Given the description of an element on the screen output the (x, y) to click on. 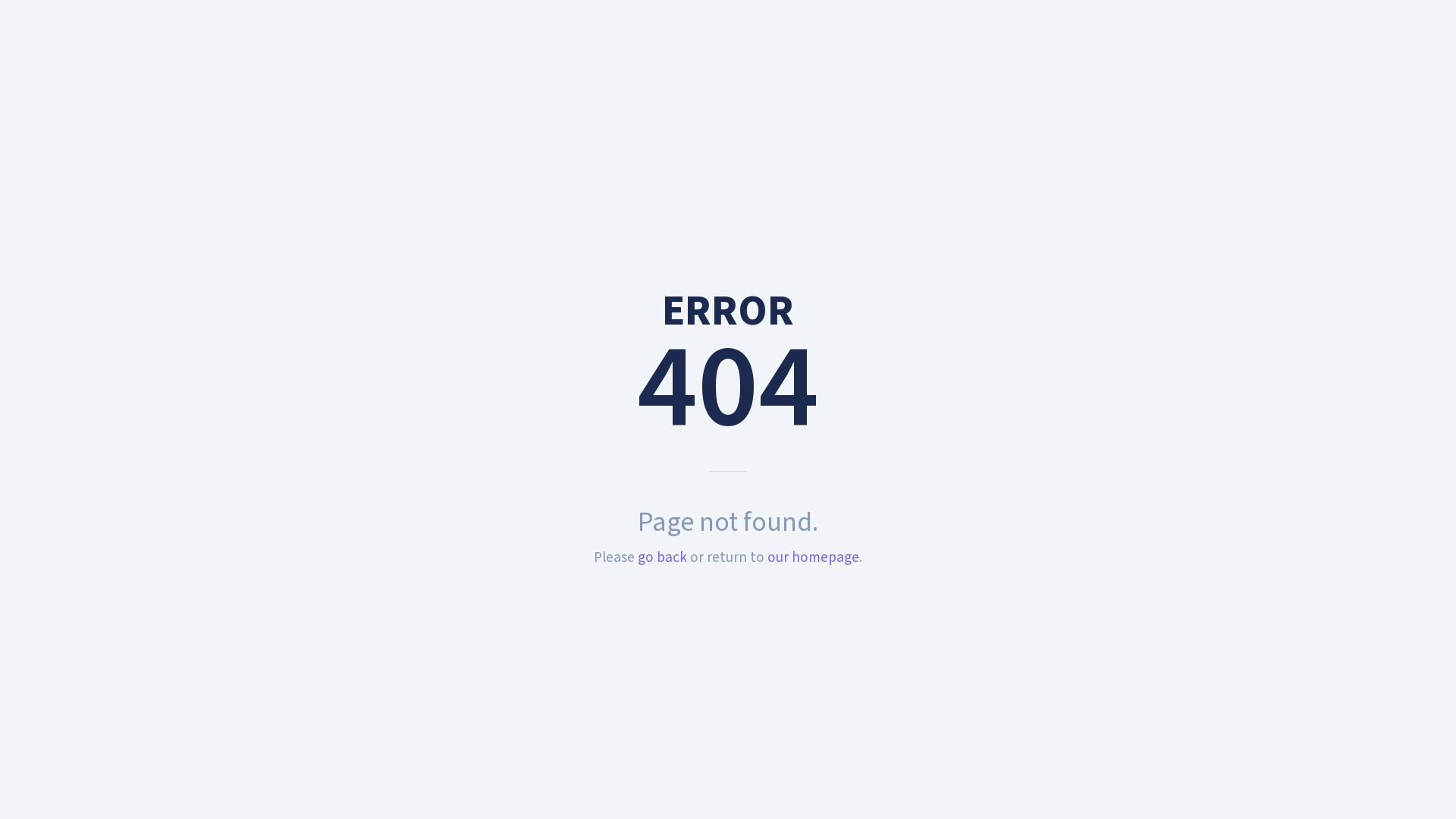
go back Element type: text (662, 556)
our homepage Element type: text (813, 556)
